Given the description of an element on the screen output the (x, y) to click on. 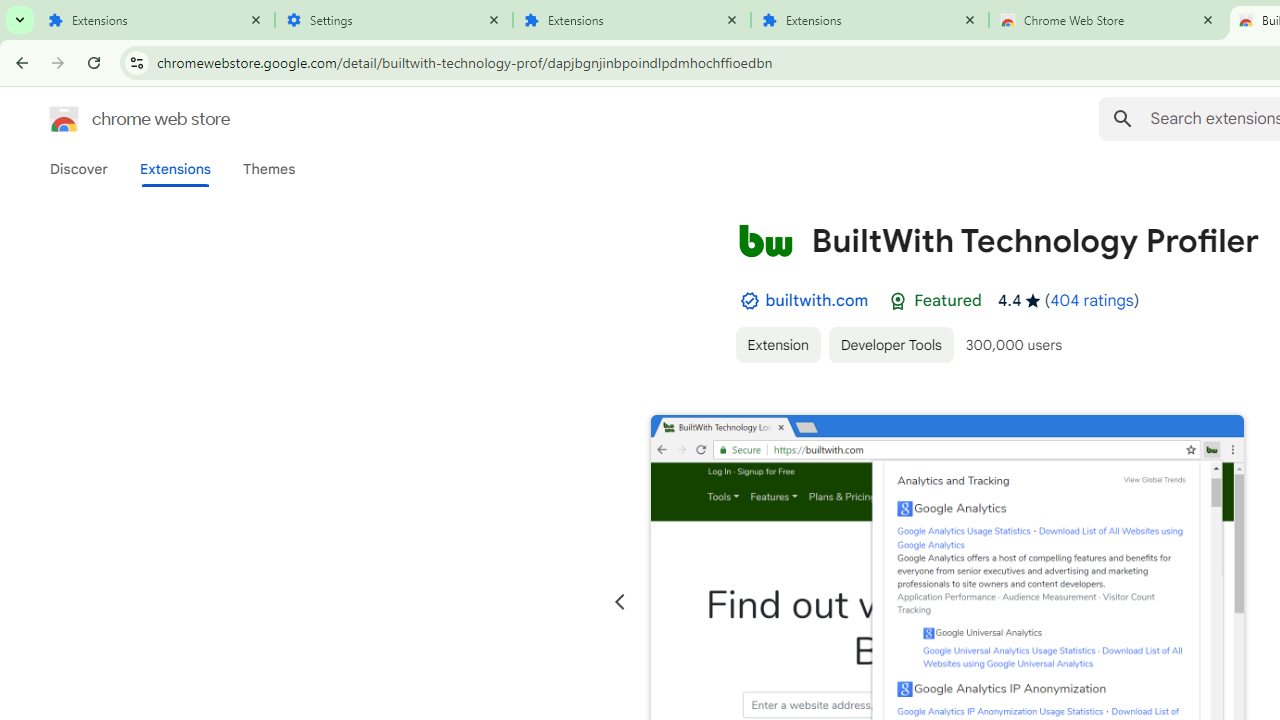
By Established Publisher Badge (749, 301)
Chrome Web Store logo (63, 118)
Extensions (870, 20)
Chrome Web Store logo chrome web store (118, 118)
Extensions (632, 20)
Discover (79, 169)
404 ratings (1091, 300)
Extension (777, 344)
Extensions (174, 169)
Developer Tools (890, 344)
Item logo image for BuiltWith Technology Profiler (765, 240)
Themes (269, 169)
Extensions (156, 20)
